Given the description of an element on the screen output the (x, y) to click on. 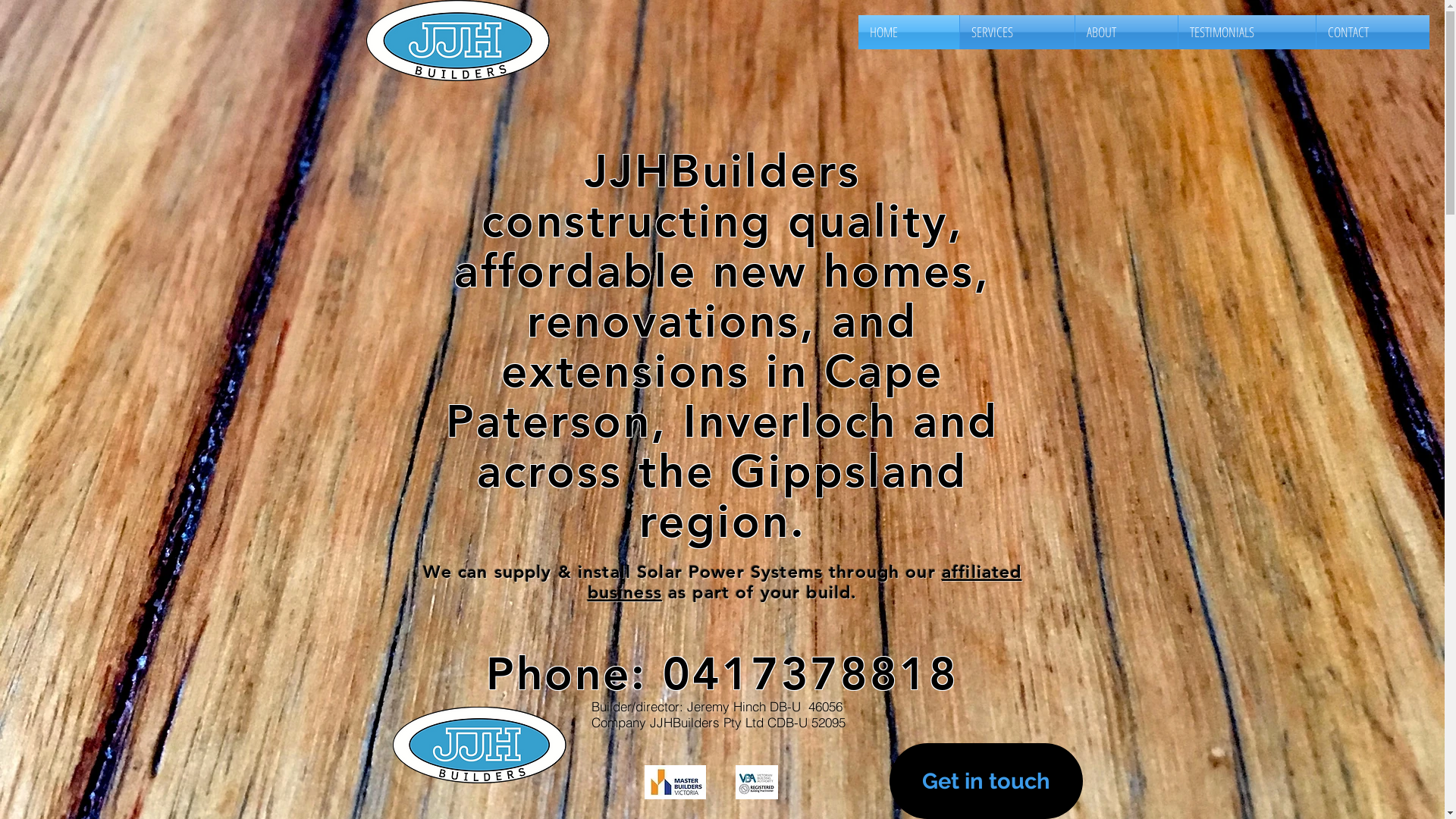
TESTIMONIALS Element type: text (1246, 32)
SERVICES Element type: text (1017, 32)
affiliated Element type: text (981, 571)
CONTACT Element type: text (1372, 32)
ABOUT Element type: text (1126, 32)
business Element type: text (624, 591)
HOME Element type: text (908, 32)
